Given the description of an element on the screen output the (x, y) to click on. 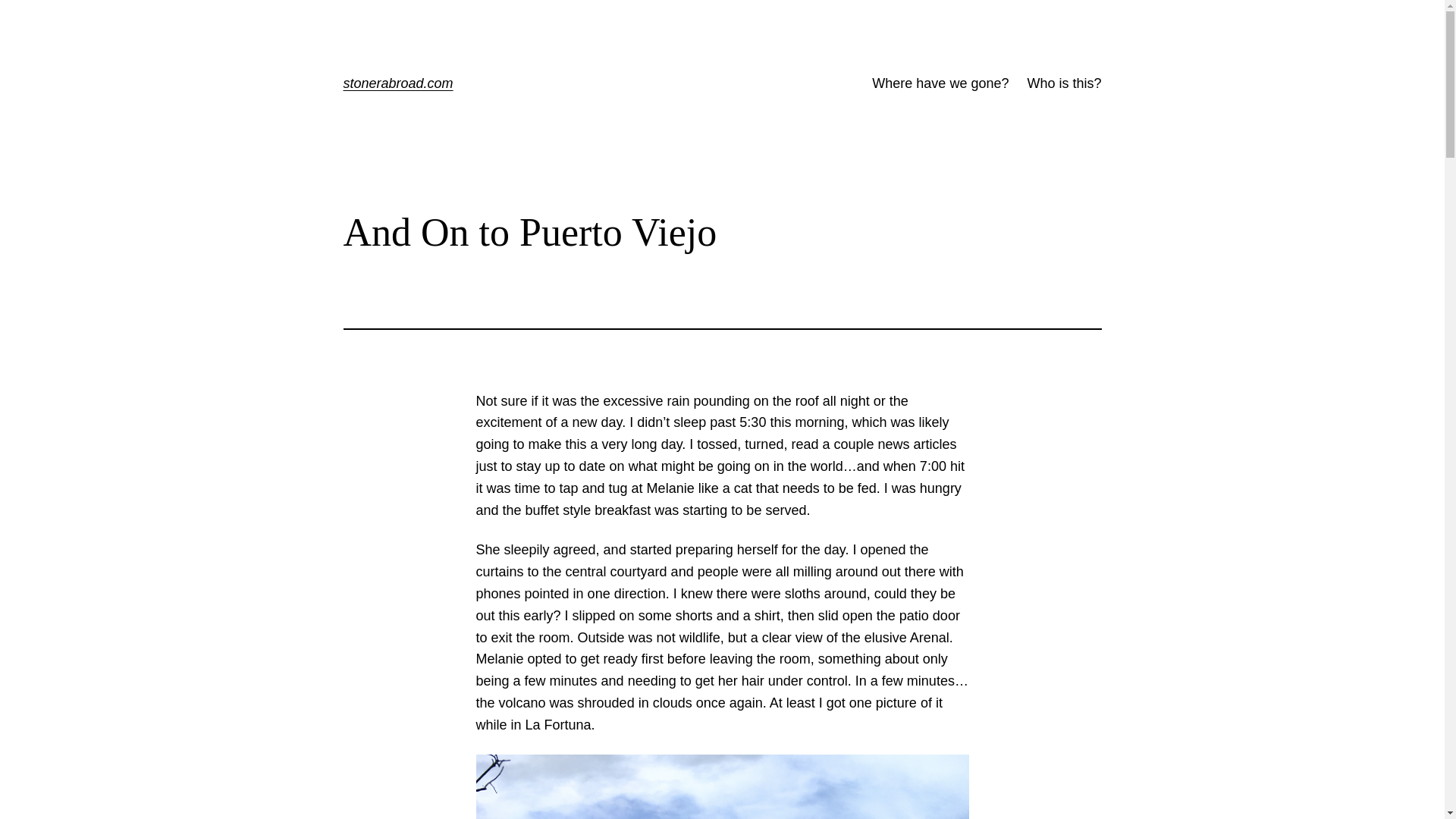
Who is this? (1063, 83)
stonerabroad.com (397, 83)
Where have we gone? (940, 83)
